Given the description of an element on the screen output the (x, y) to click on. 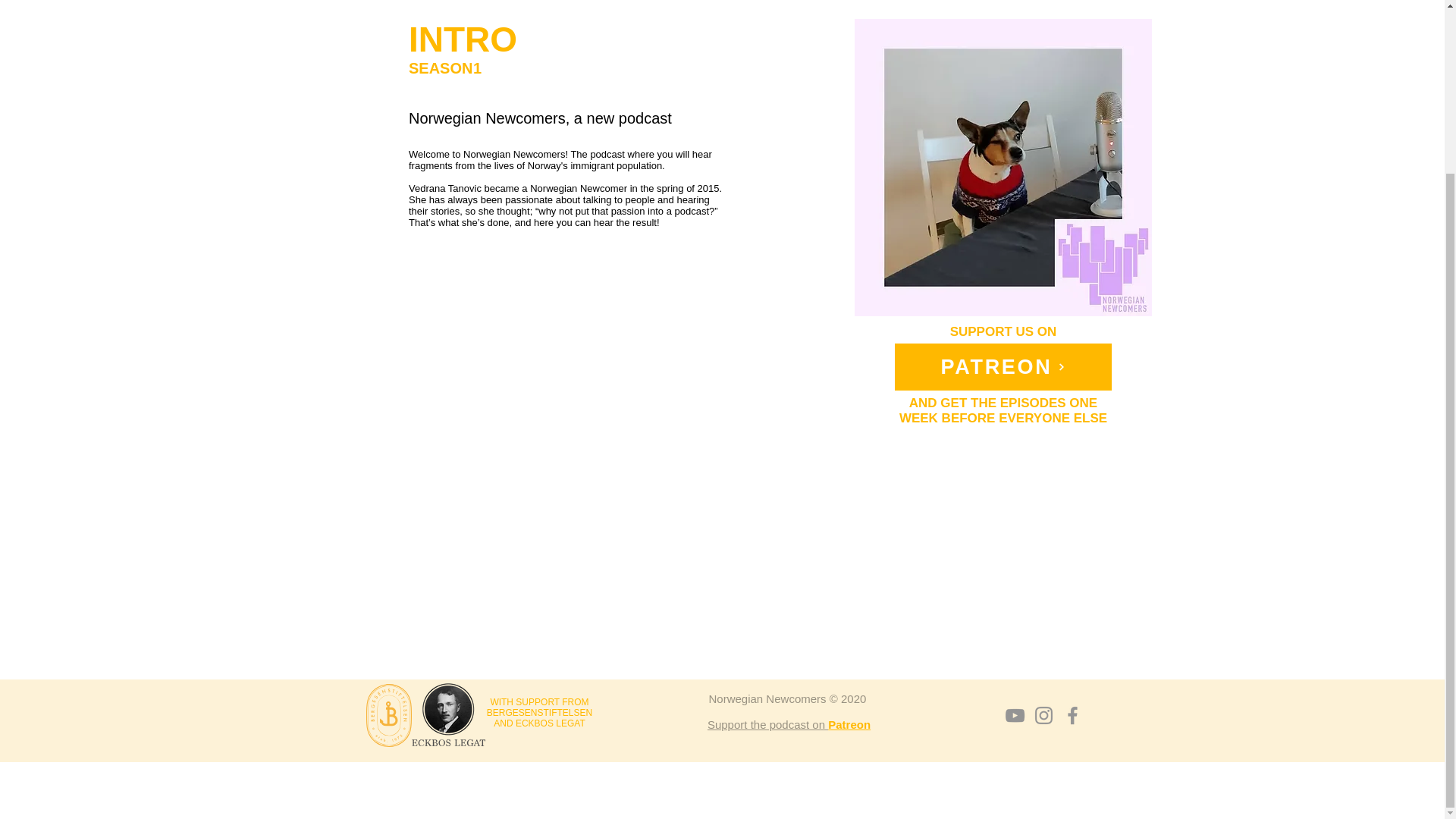
Support the podcast on Patreon (788, 724)
17942762617411996.jpg (1002, 167)
All Episodes (634, 1)
PATREON (1003, 366)
